Given the description of an element on the screen output the (x, y) to click on. 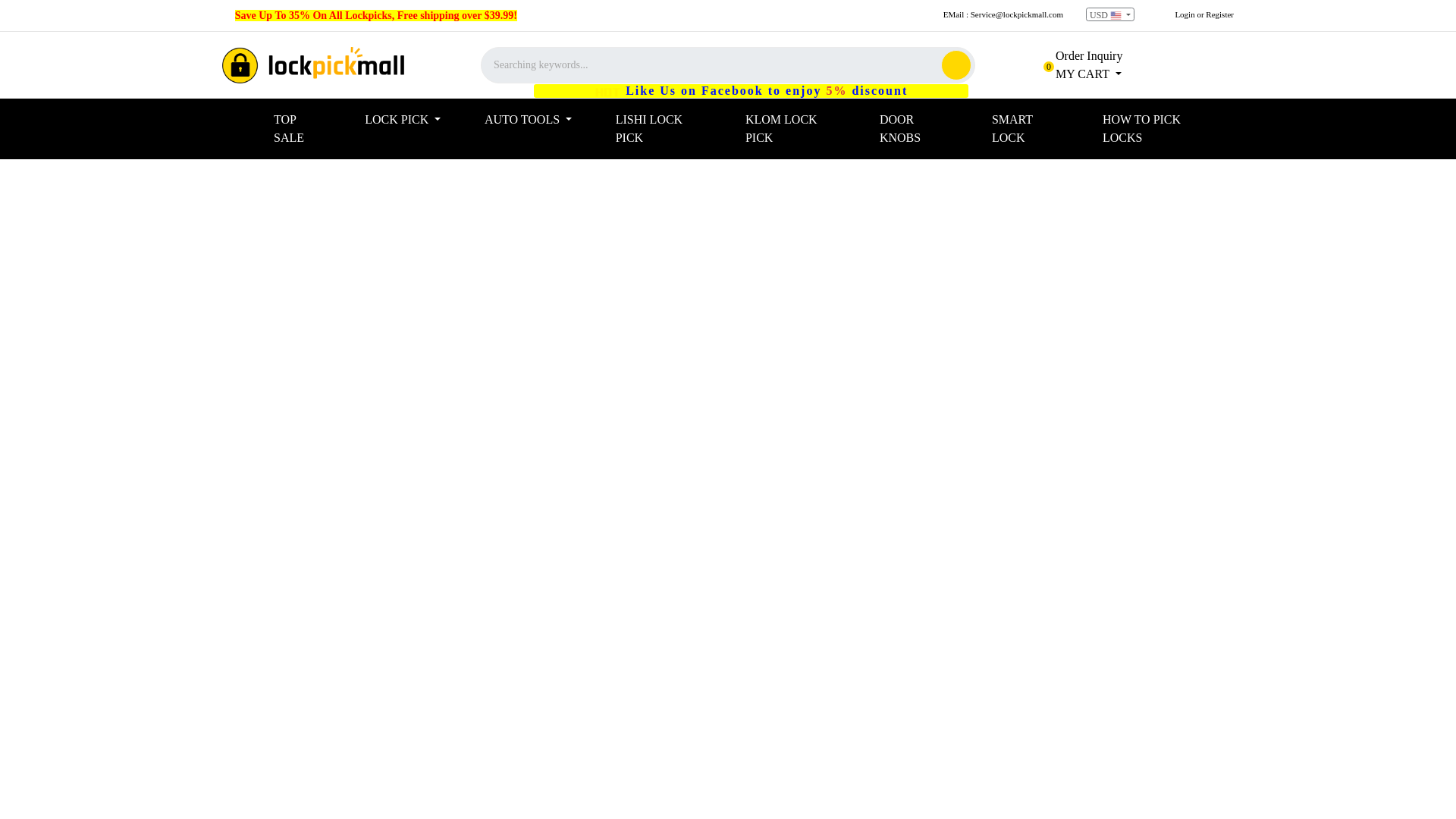
Register (1219, 13)
Login (1183, 13)
LOCK PICK (418, 119)
USD (1110, 14)
TOP SALE (312, 128)
AUTO TOOLS (544, 119)
Order Inquiry (1078, 55)
LISHI LOCK PICK (674, 128)
KLOM LOCK PICK (806, 128)
Lock Pick Set (313, 64)
